Given the description of an element on the screen output the (x, y) to click on. 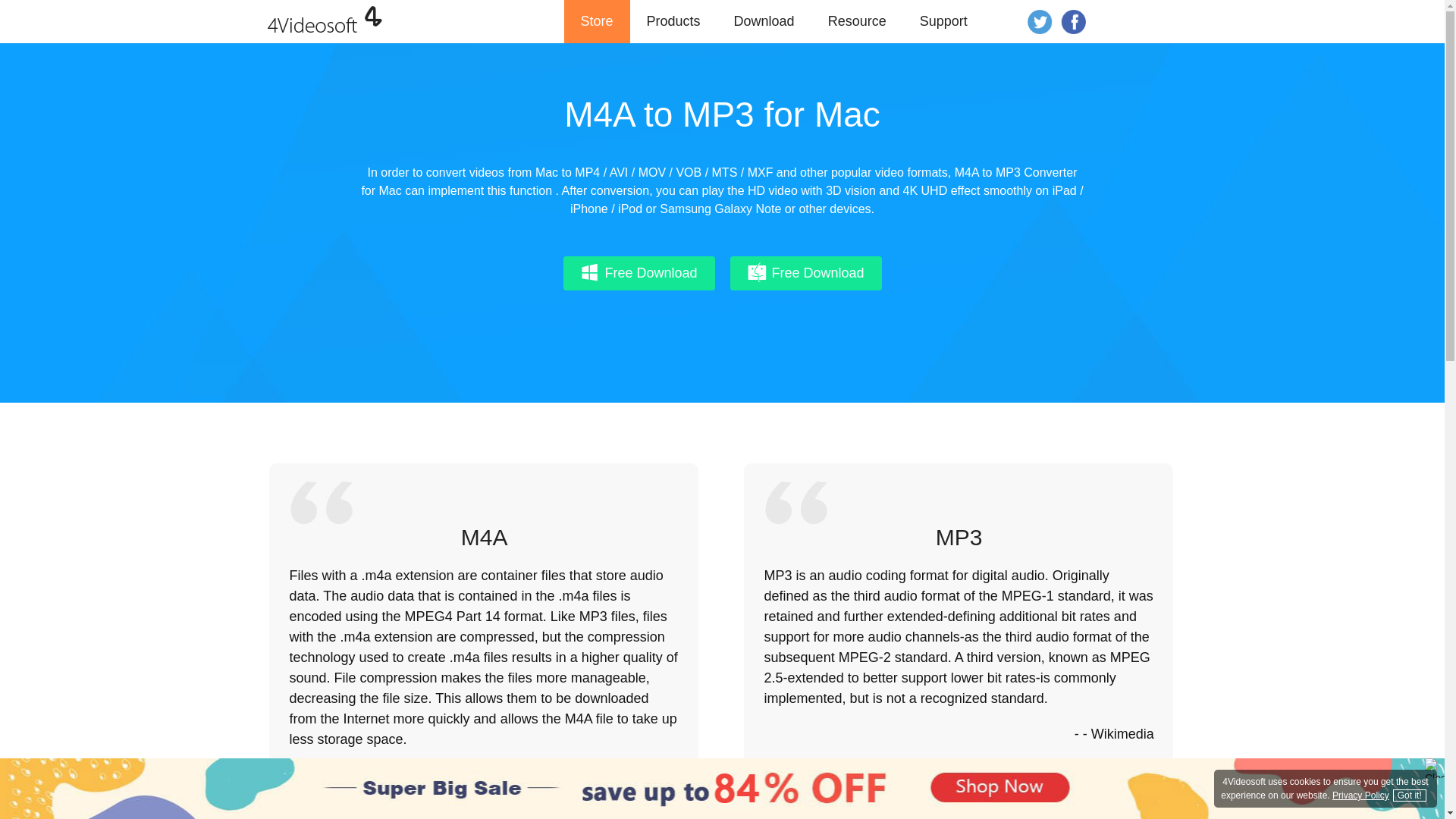
Store (597, 20)
Products (673, 20)
